Given the description of an element on the screen output the (x, y) to click on. 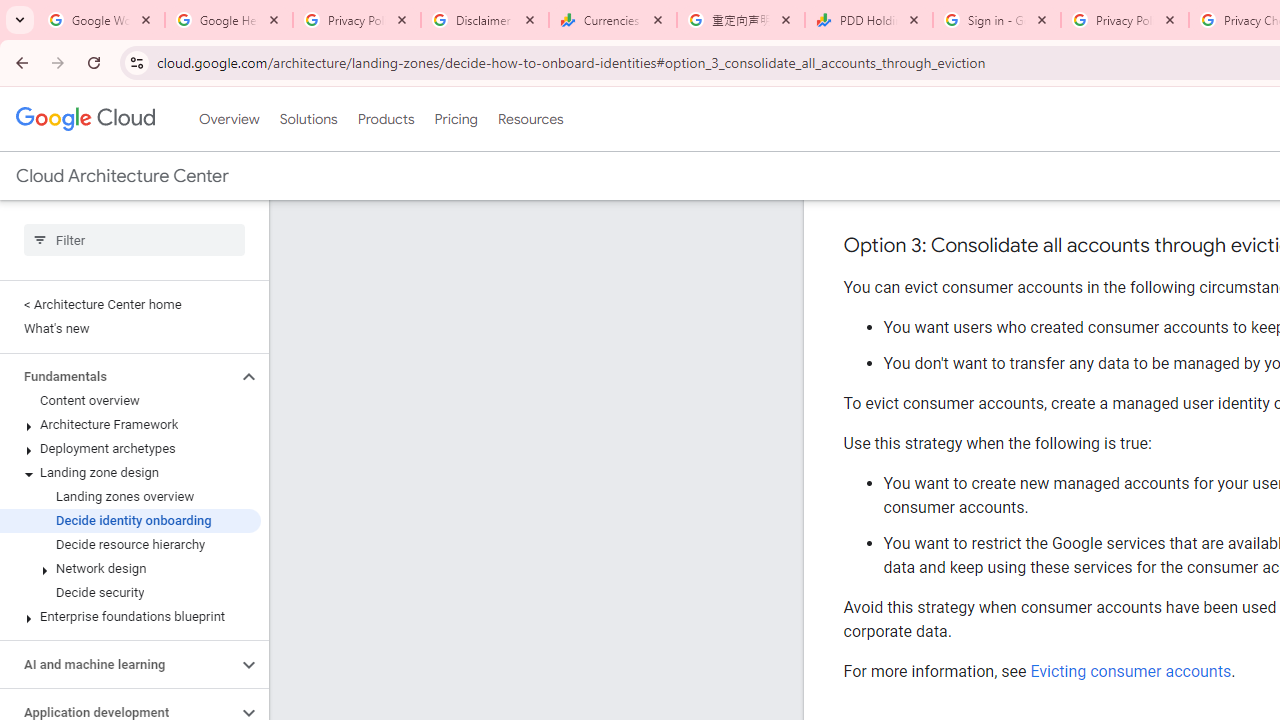
Type to filter (134, 239)
Currencies - Google Finance (613, 20)
Network design (130, 569)
Fundamentals (118, 376)
Products (385, 119)
Cloud Architecture Center (122, 175)
Content overview (130, 400)
